Given the description of an element on the screen output the (x, y) to click on. 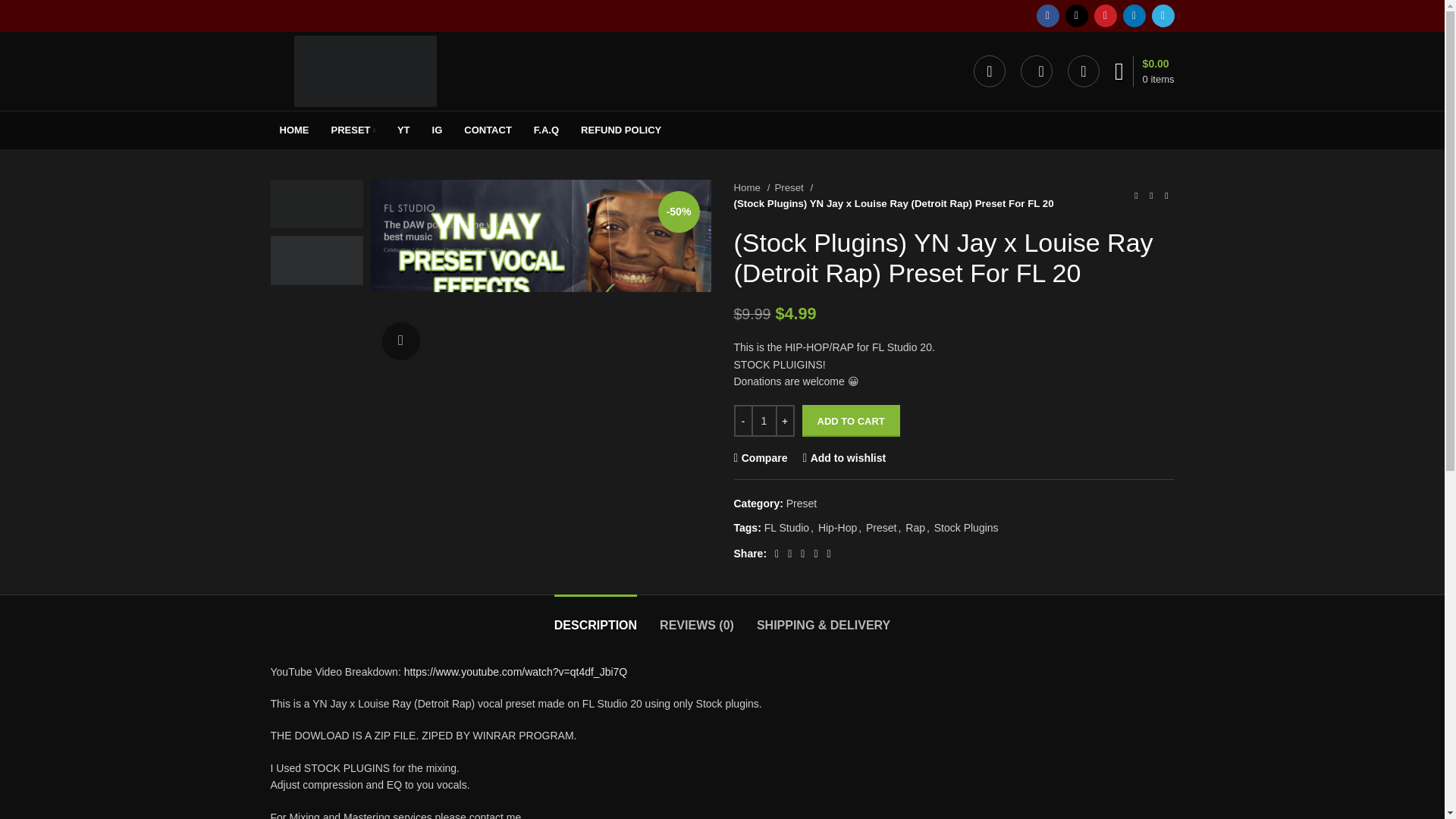
CONTACT (487, 130)
Search (1036, 71)
REFUND POLICY (620, 130)
My account (989, 71)
Preset (793, 187)
F.A.Q (545, 130)
YT (403, 130)
PRESET (352, 130)
FL YN JAY VOCALBOX (539, 275)
Log in (880, 312)
